Given the description of an element on the screen output the (x, y) to click on. 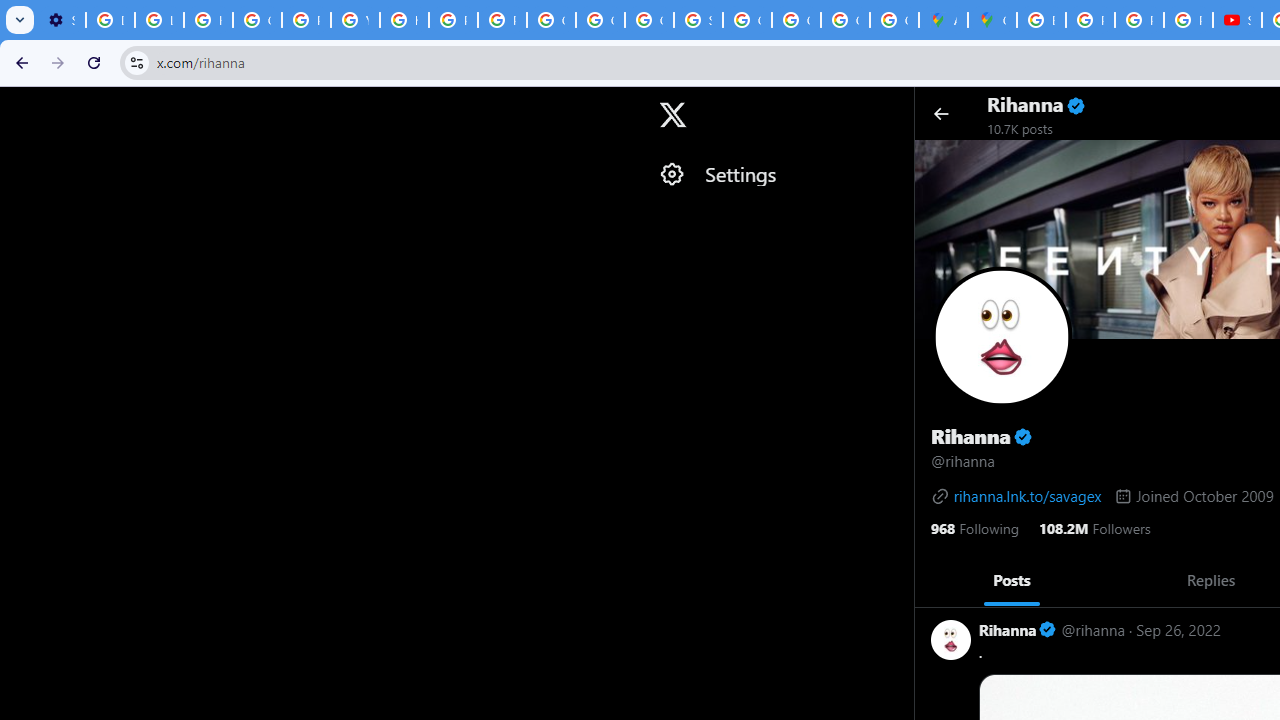
968 Following (974, 526)
Sep 26, 2022 (1178, 629)
YouTube (355, 20)
Opens profile photo (1001, 336)
Privacy Help Center - Policies Help (452, 20)
Rihanna Verified account (1018, 629)
Blogger Policies and Guidelines - Transparency Center (1041, 20)
Skip to home timeline (17, 105)
Privacy Help Center - Policies Help (1138, 20)
